Given the description of an element on the screen output the (x, y) to click on. 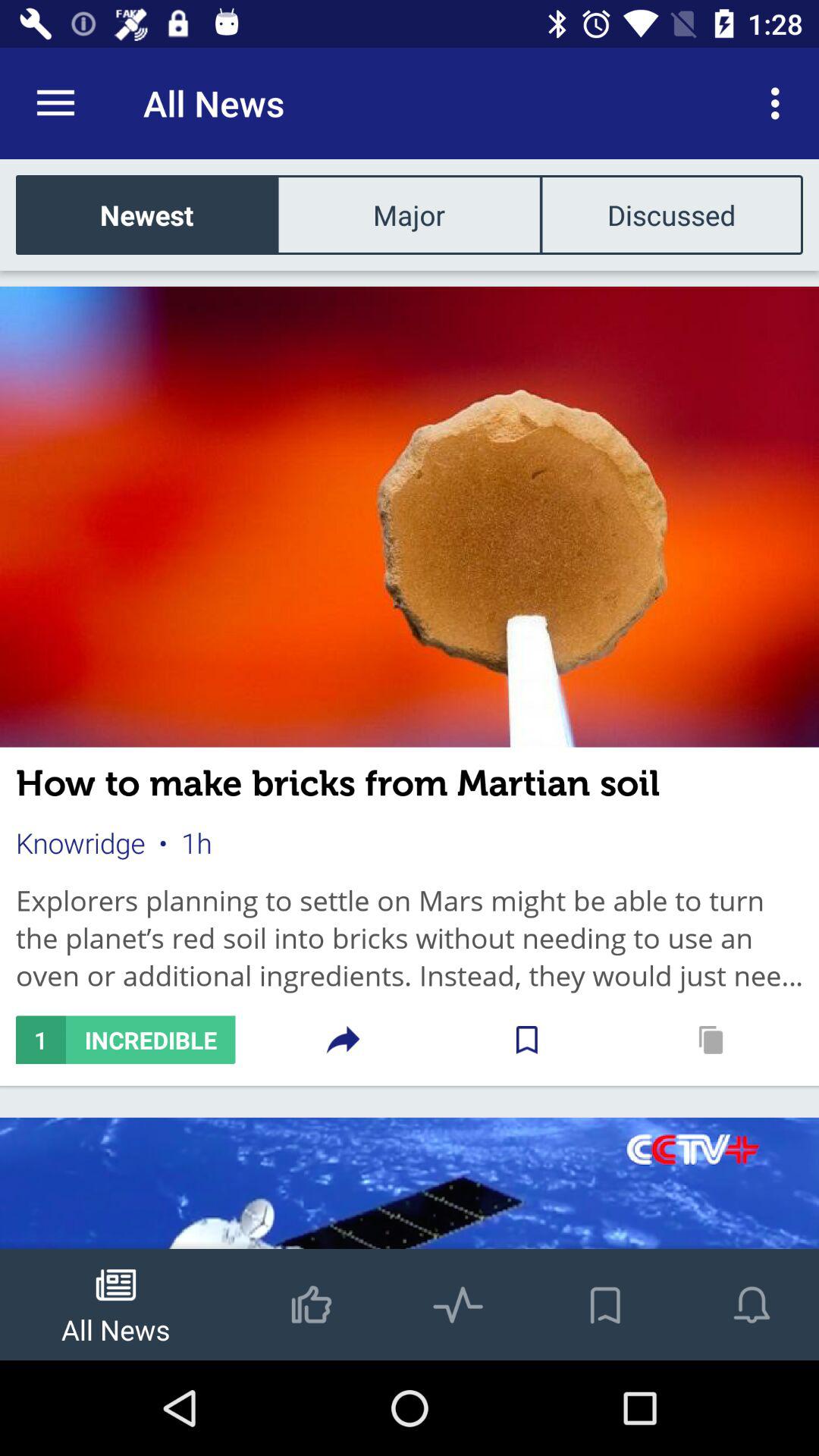
choose the item to the left of major (146, 214)
